Given the description of an element on the screen output the (x, y) to click on. 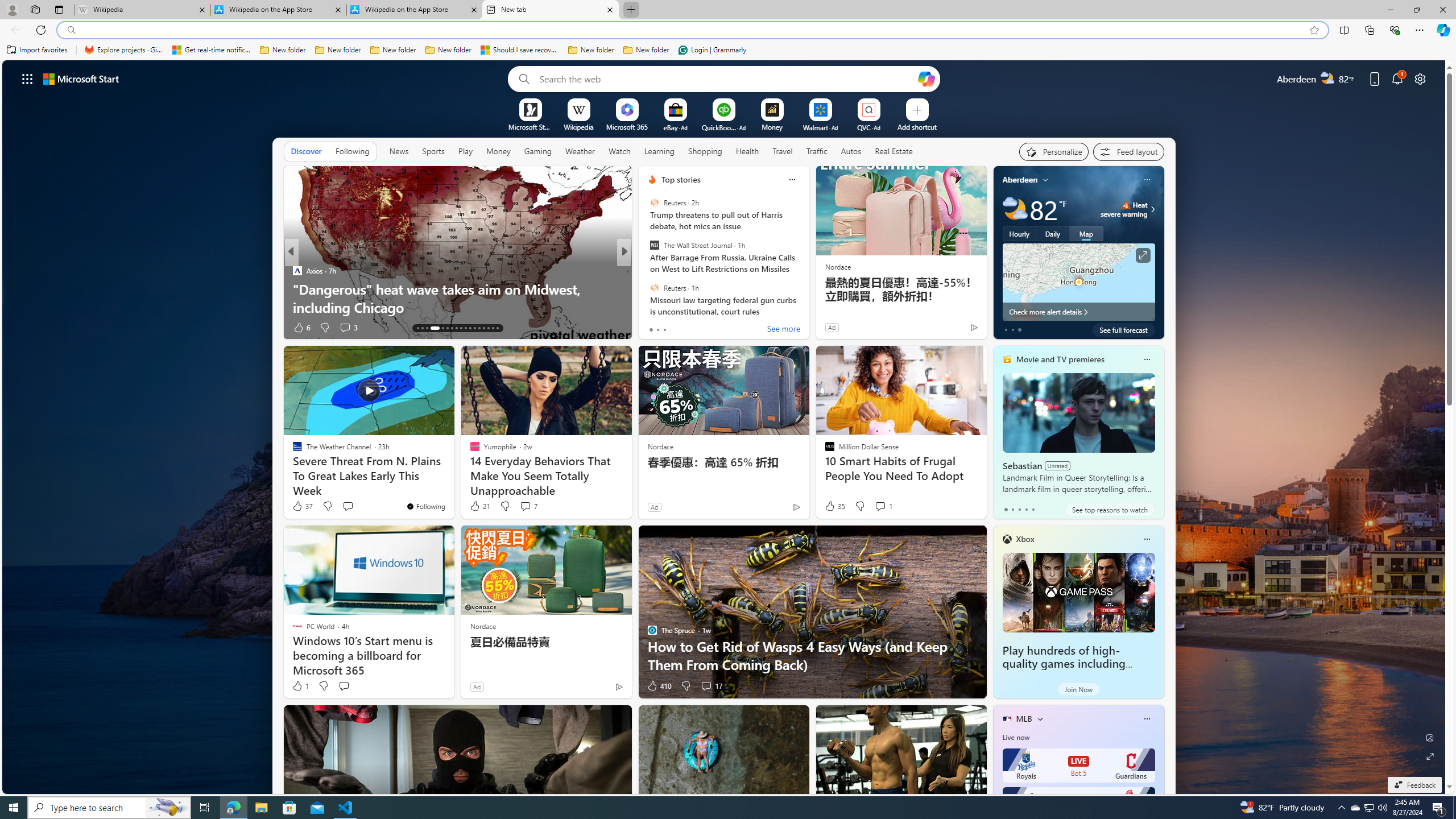
516 Like (654, 327)
Heat - Severe (1126, 204)
The Cool Down (647, 270)
AutomationID: tab-19 (451, 328)
Top stories (680, 179)
19 Famous Movie Lines You've Been Misquoting All Along (807, 298)
14 Quiet Ways People Get Revenge (807, 307)
